Given the description of an element on the screen output the (x, y) to click on. 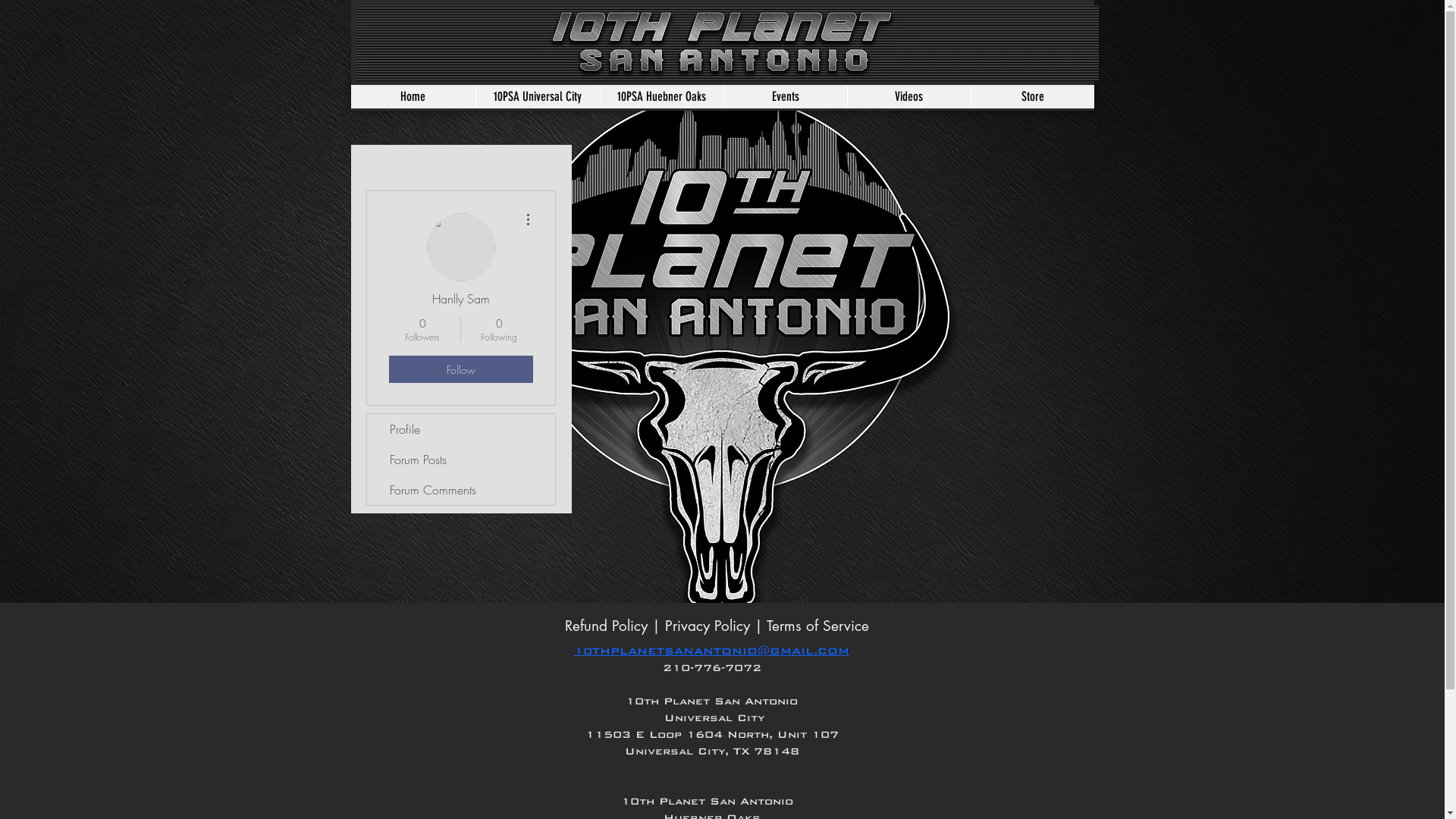
0
Followers Element type: text (421, 329)
10PSA Huebner Oaks Element type: text (660, 96)
Follow Element type: text (460, 368)
Profile Element type: text (461, 429)
Videos Element type: text (907, 96)
Home Element type: text (412, 96)
10THPLANETSANANTONIO@GMAIL.COM Element type: text (711, 650)
Forum Posts Element type: text (461, 459)
Store Element type: text (1032, 96)
Forum Comments Element type: text (461, 489)
10PSA Universal City Element type: text (536, 96)
0
Following Element type: text (499, 329)
Events Element type: text (785, 96)
